Given the description of an element on the screen output the (x, y) to click on. 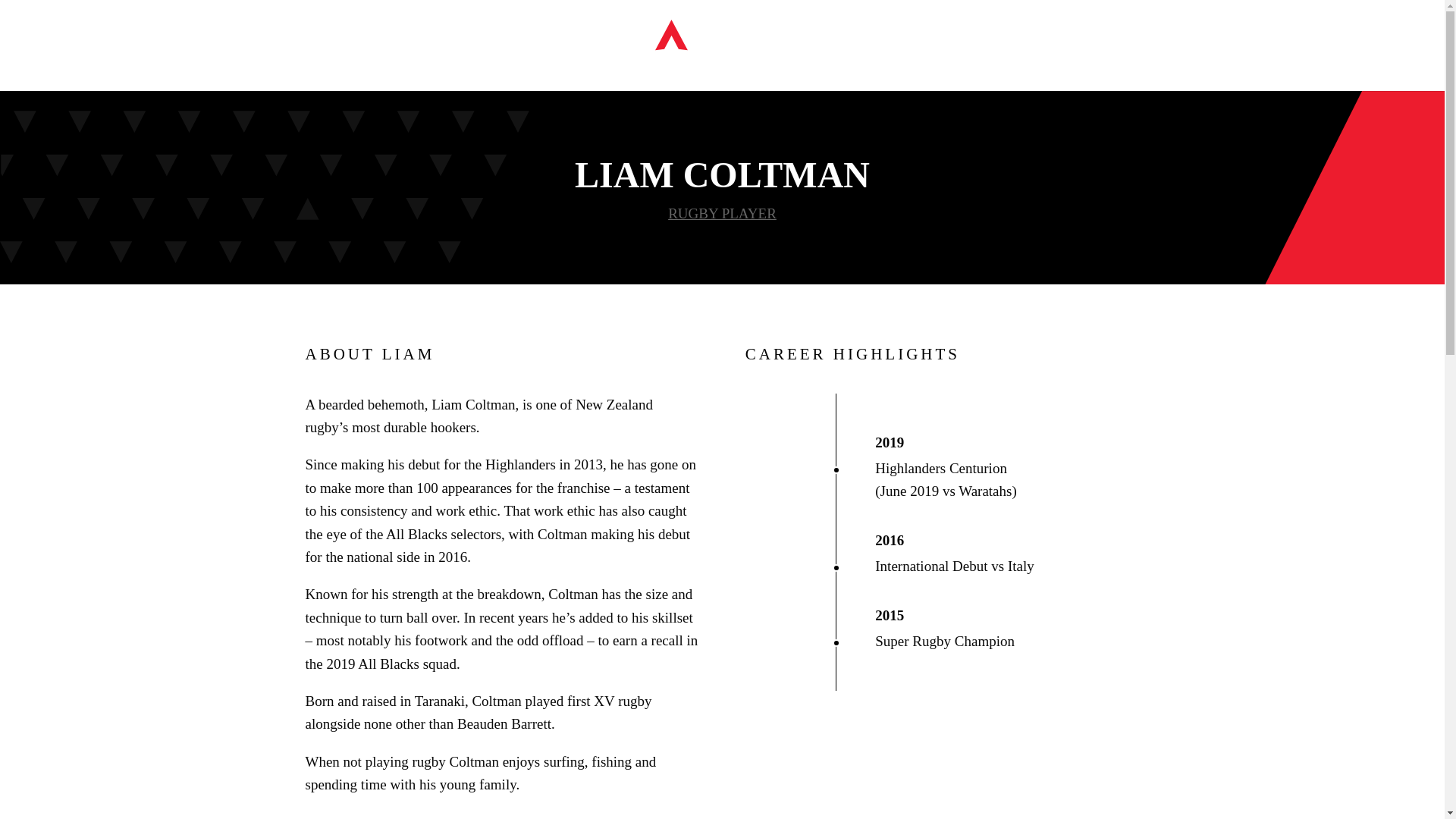
RUGBY PLAYER (722, 213)
OUR TEAM (899, 66)
REPRESENTATION (489, 66)
OUR TALENT (820, 66)
